Given the description of an element on the screen output the (x, y) to click on. 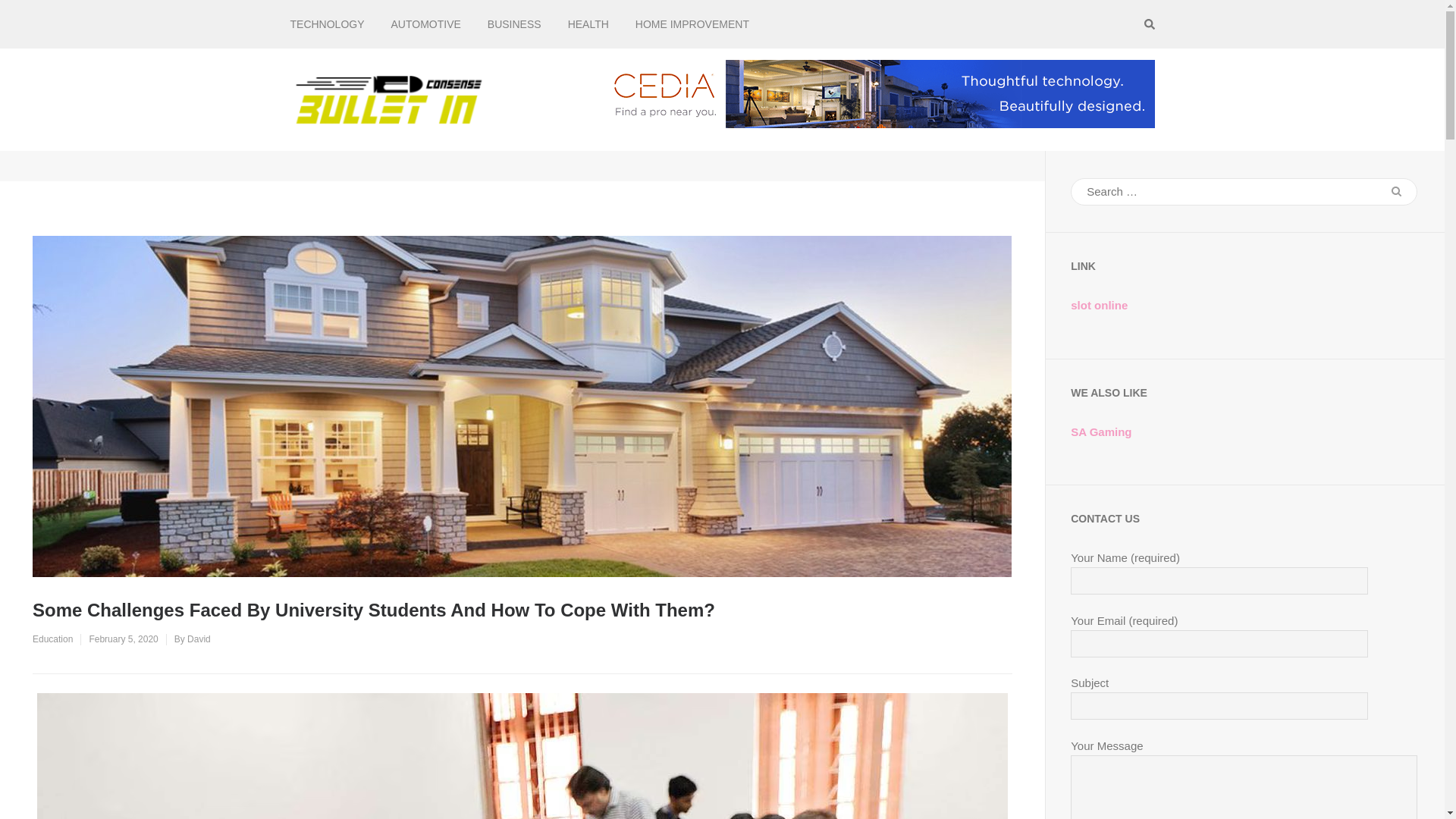
AUTOMOTIVE (426, 24)
ConnSense Bulletin (580, 112)
Search (1395, 191)
February 5, 2020 (122, 638)
SA Gaming (1100, 431)
Education (52, 638)
HOME IMPROVEMENT (691, 24)
slot online (1098, 305)
BUSINESS (514, 24)
David (199, 638)
